Given the description of an element on the screen output the (x, y) to click on. 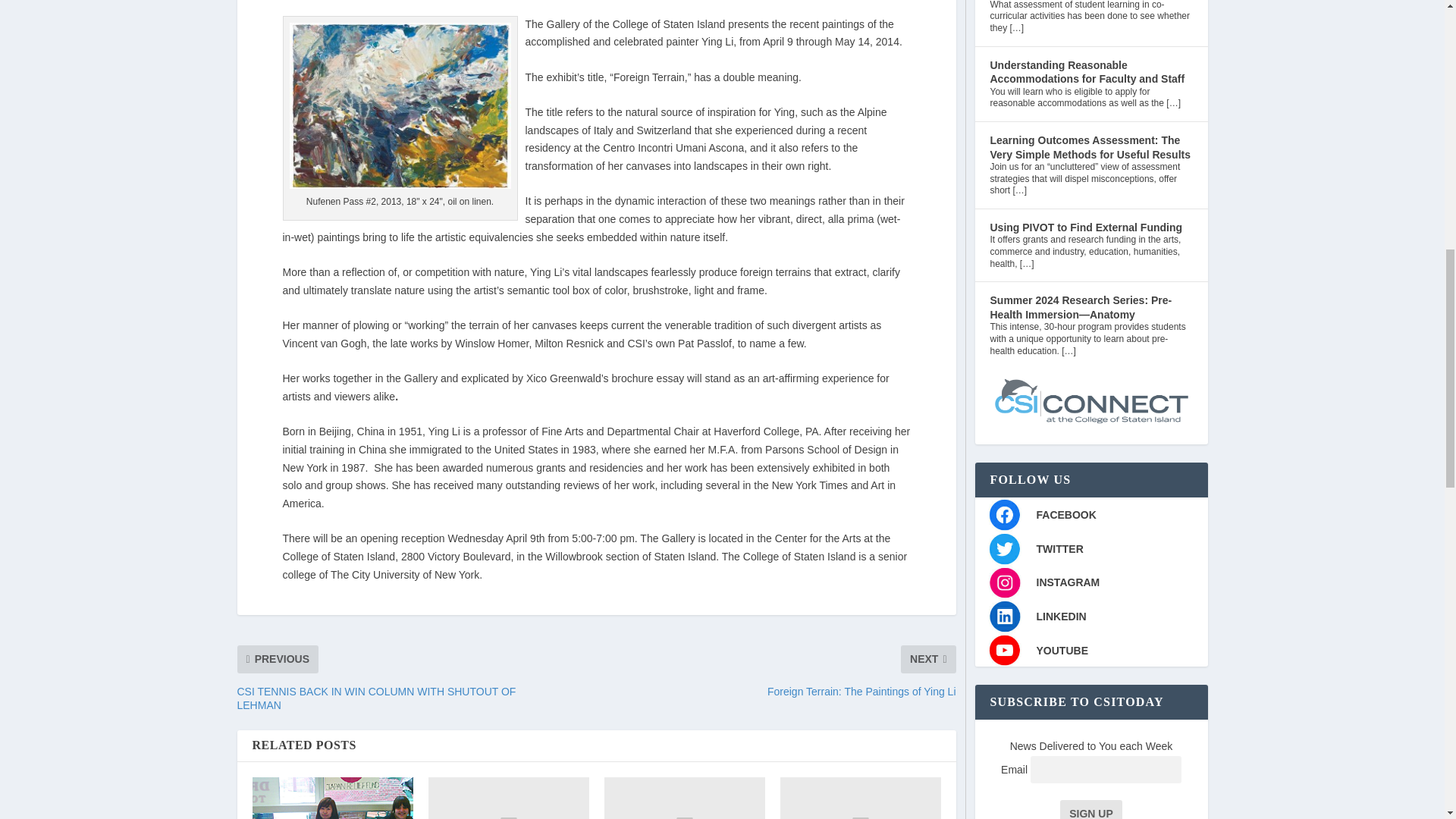
For the Love of Japan (331, 798)
Sign up (1090, 809)
